Given the description of an element on the screen output the (x, y) to click on. 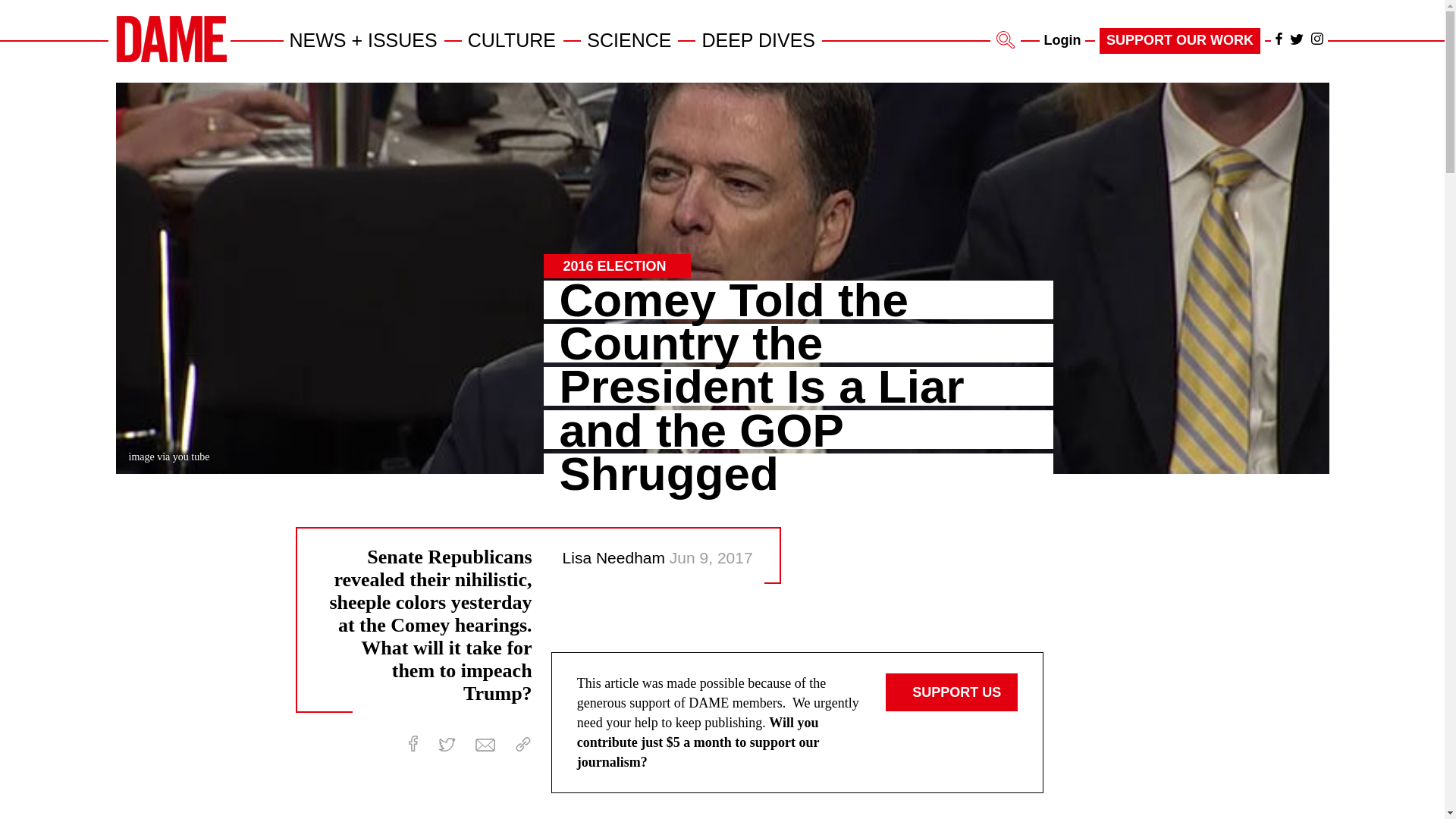
Search (1004, 39)
DAME (171, 58)
Deep Dives (758, 39)
Twitter (1296, 39)
Share (523, 744)
Instagram (1316, 38)
View all posts by Lisa Needham (615, 557)
DAME (171, 38)
Email (485, 744)
Science (629, 39)
